Given the description of an element on the screen output the (x, y) to click on. 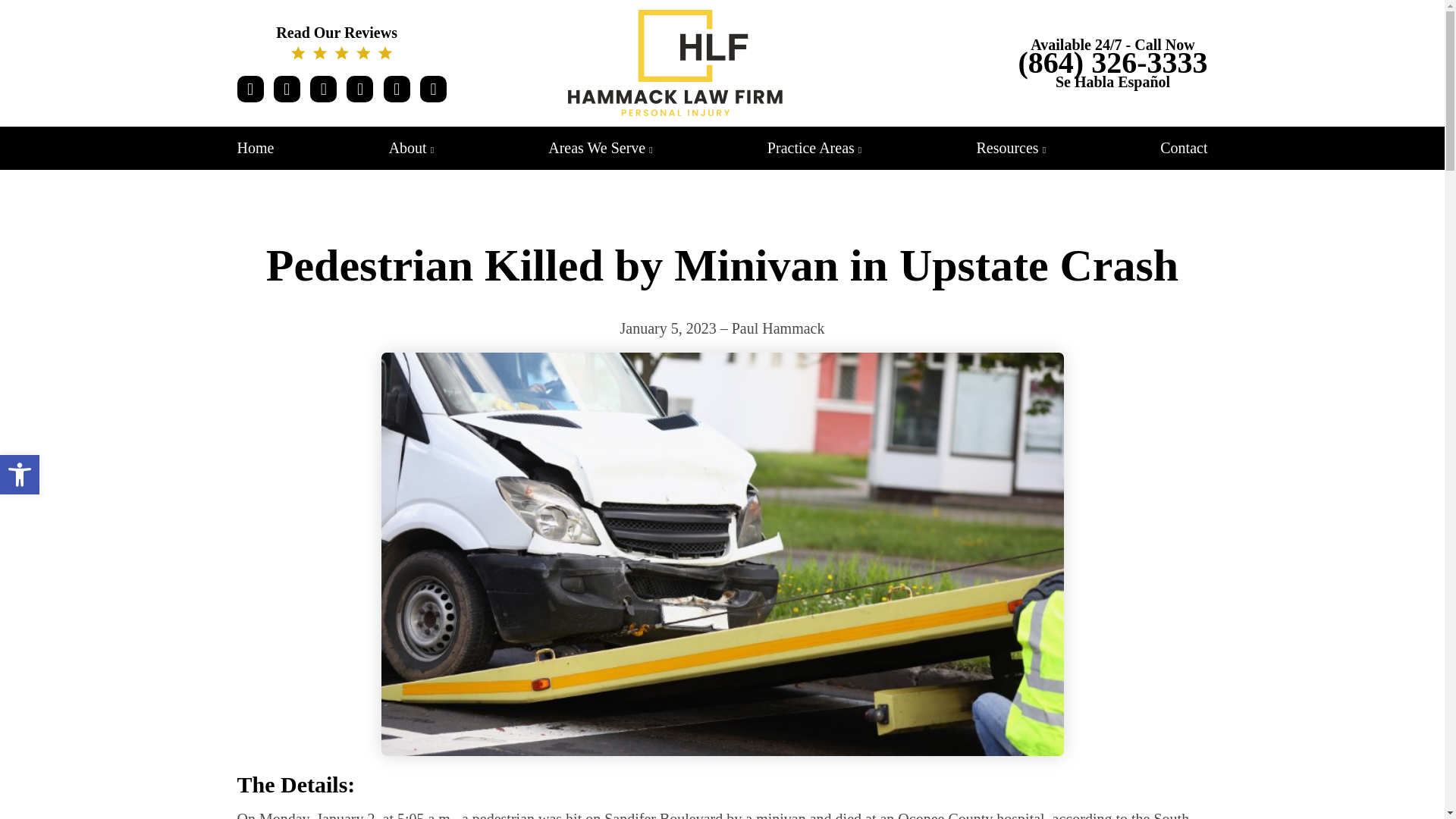
Accessibility Tools (19, 474)
Home (254, 147)
Read Our Reviews (340, 41)
About (410, 147)
Accessibility Tools (19, 474)
Read Our Reviews (340, 41)
Areas We Serve (19, 474)
